Given the description of an element on the screen output the (x, y) to click on. 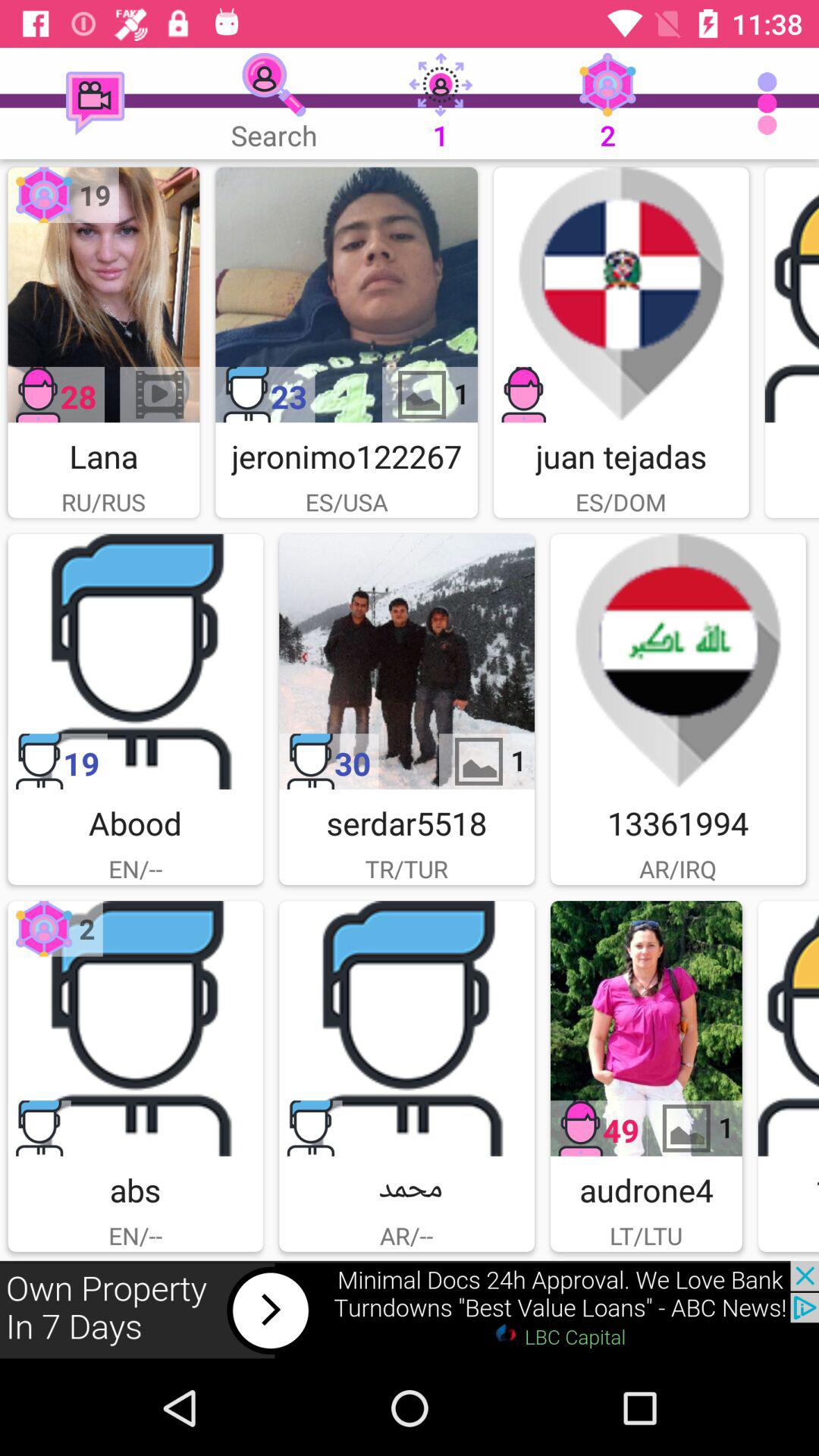
advertisement (406, 661)
